Given the description of an element on the screen output the (x, y) to click on. 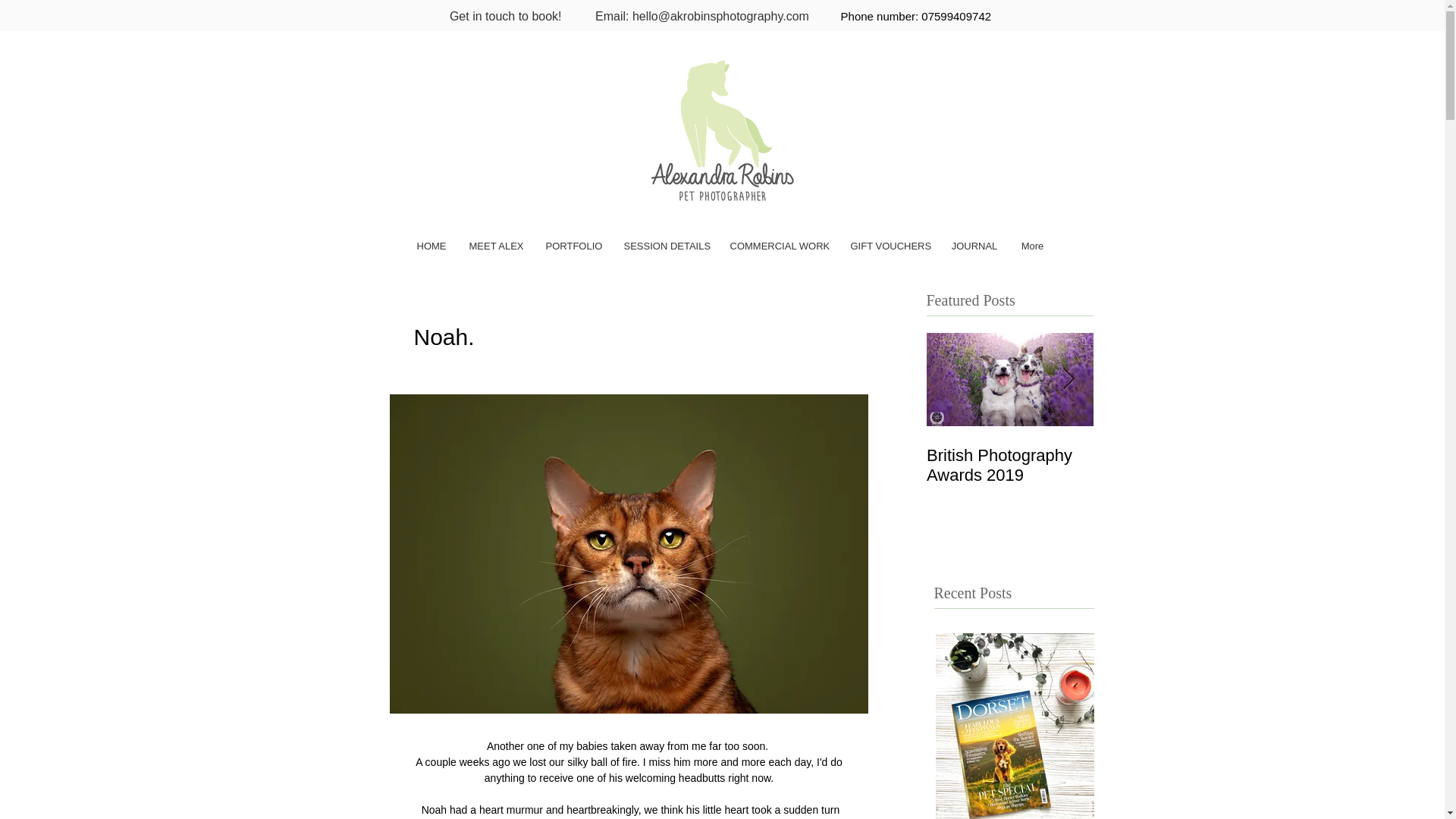
JOURNAL (974, 246)
HOME (430, 246)
COMMERCIAL WORK (779, 246)
SESSION DETAILS (665, 246)
British Photography Awards 2019 (1009, 465)
Digital Camera Magazine (1176, 465)
GIFT VOUCHERS (888, 246)
07599409742 (956, 15)
PORTFOLIO (572, 246)
MEET ALEX (496, 246)
